Given the description of an element on the screen output the (x, y) to click on. 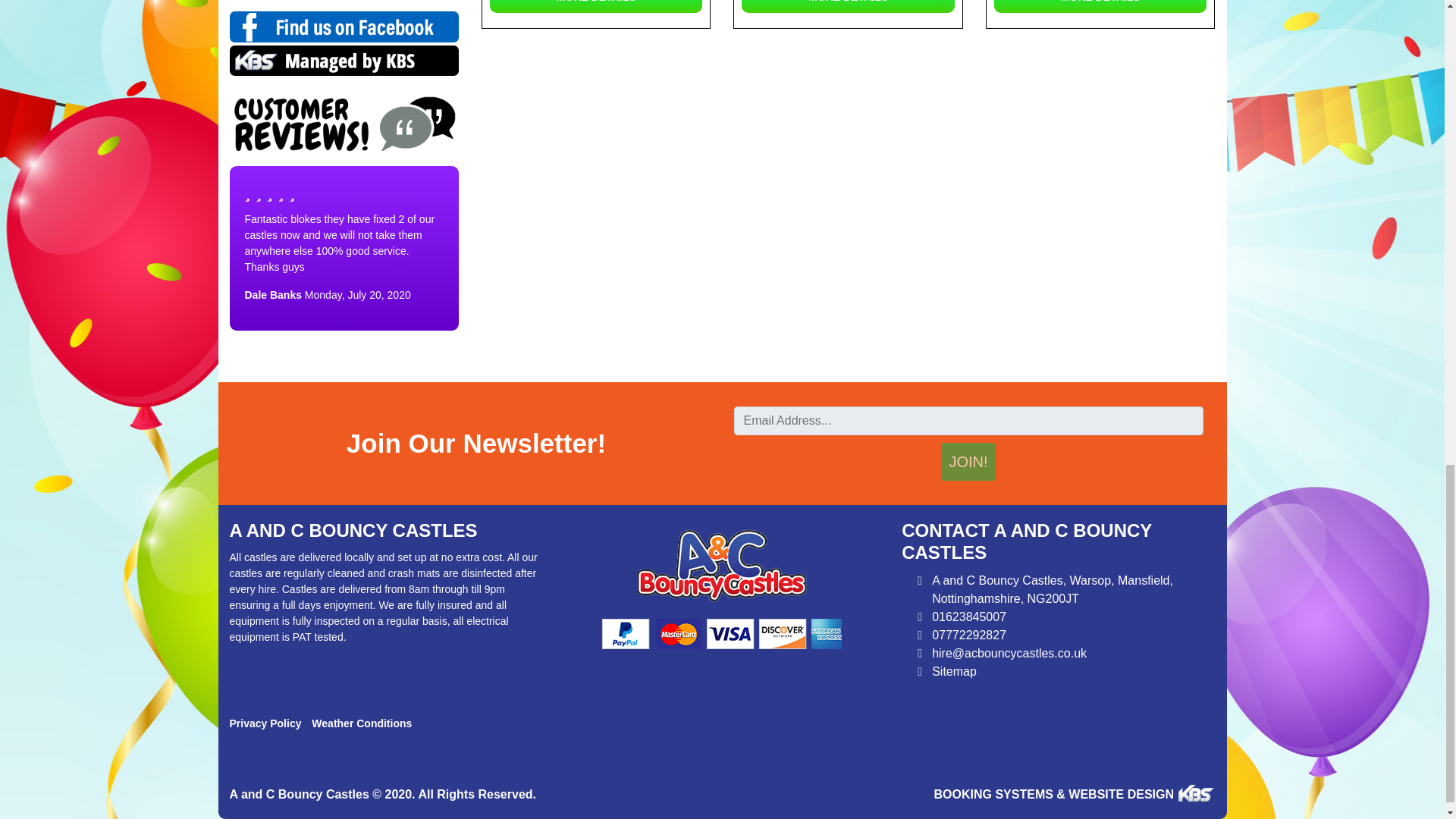
Join! (967, 461)
